Given the description of an element on the screen output the (x, y) to click on. 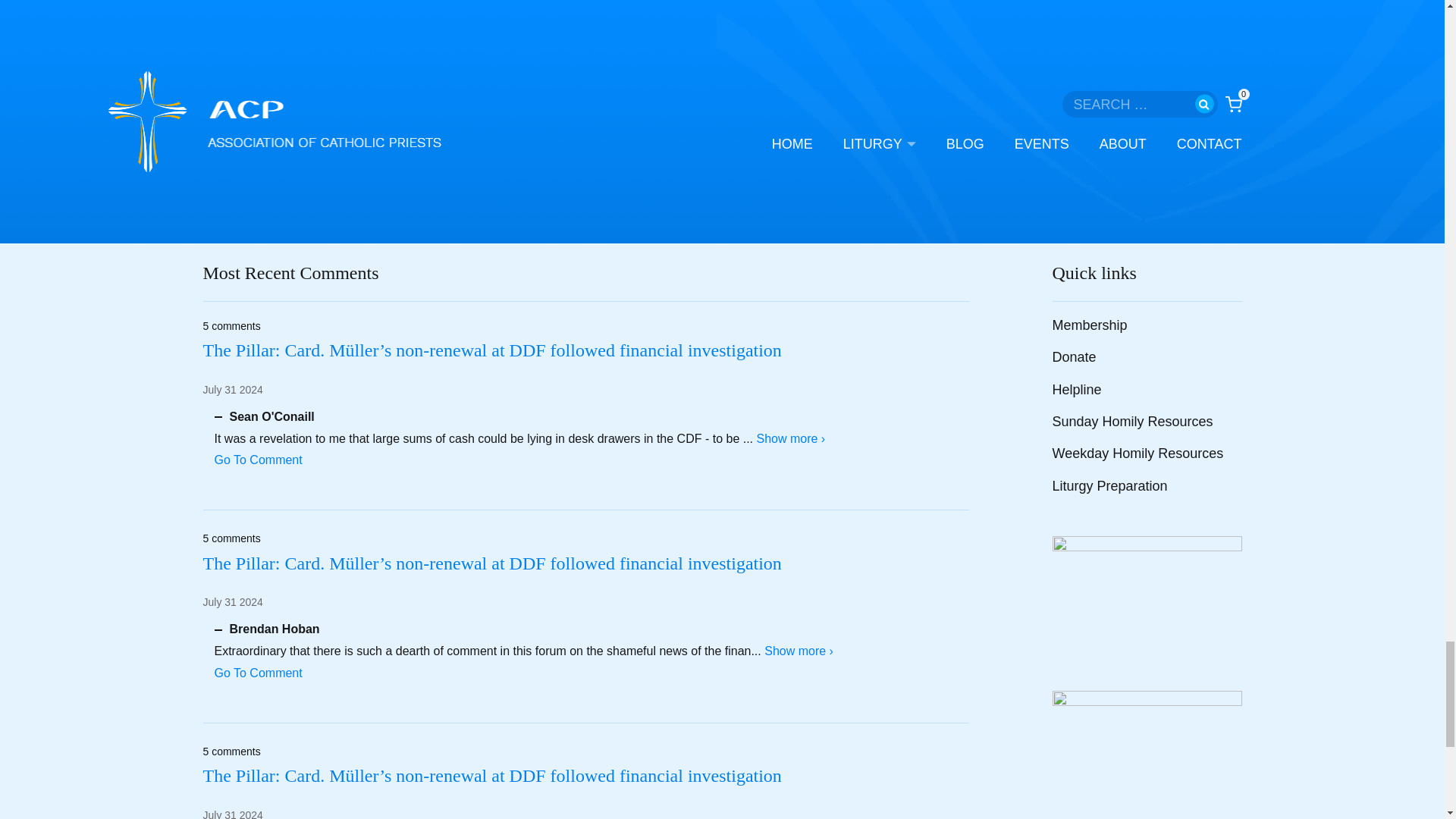
Post Comment (259, 138)
